Given the description of an element on the screen output the (x, y) to click on. 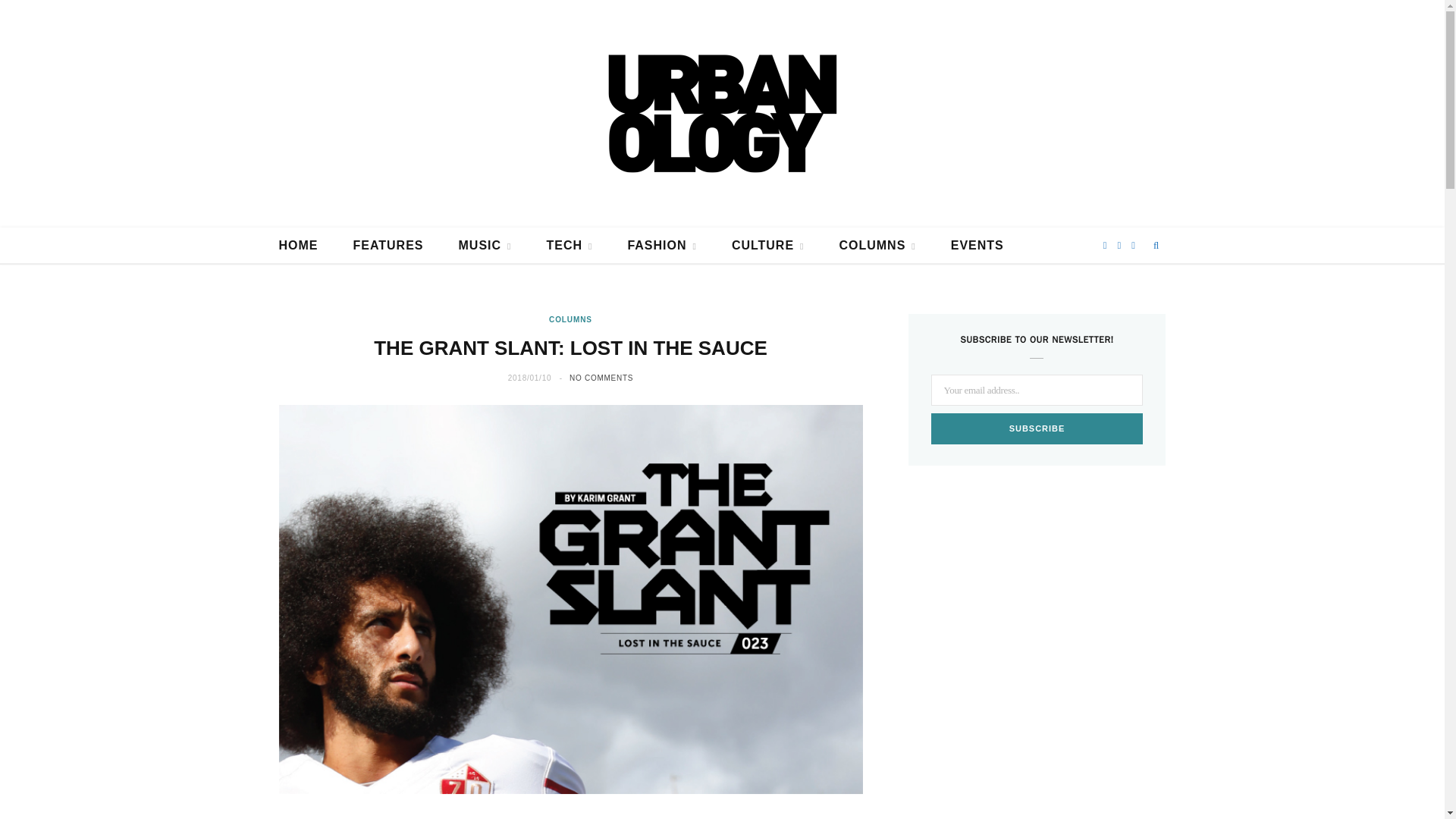
EVENTS (977, 245)
MUSIC (484, 245)
COLUMNS (570, 319)
COLUMNS (877, 245)
Urbanology Magazine (722, 113)
Subscribe (1036, 428)
NO COMMENTS (601, 377)
HOME (297, 245)
TECH (568, 245)
FASHION (661, 245)
FEATURES (388, 245)
CULTURE (768, 245)
